Given the description of an element on the screen output the (x, y) to click on. 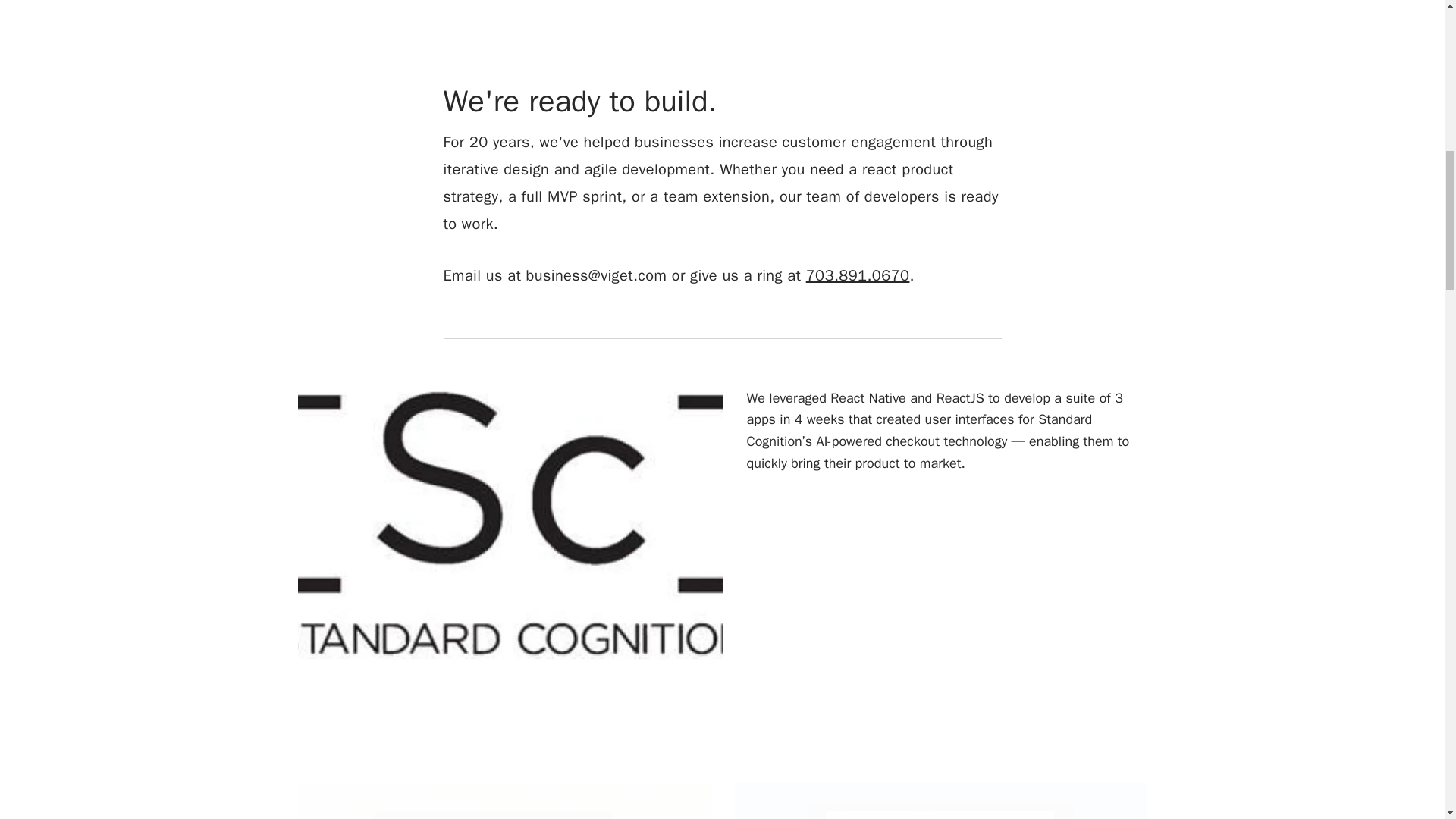
703.891.0670 (858, 275)
